Given the description of an element on the screen output the (x, y) to click on. 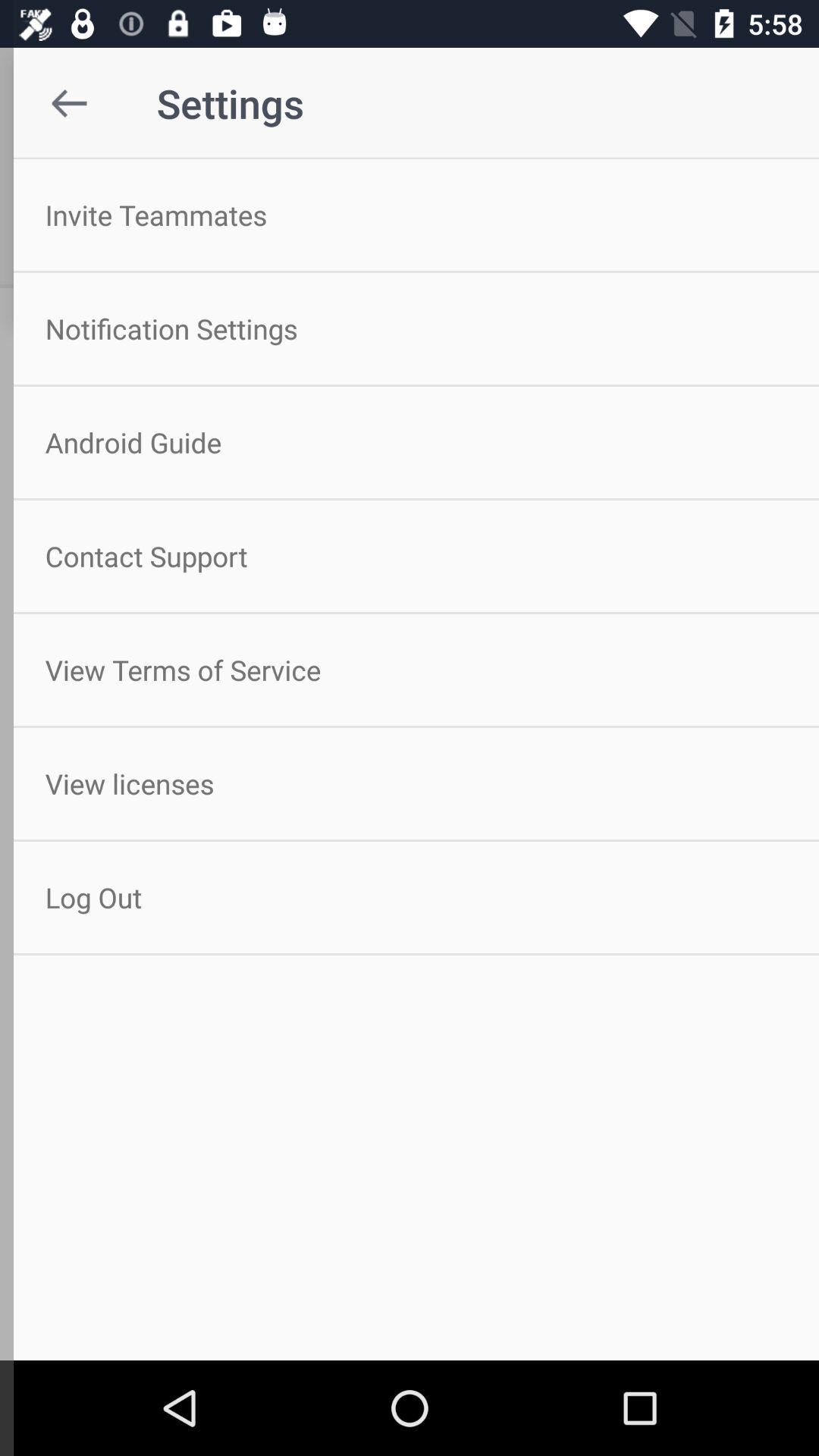
choose the view terms of (409, 669)
